Given the description of an element on the screen output the (x, y) to click on. 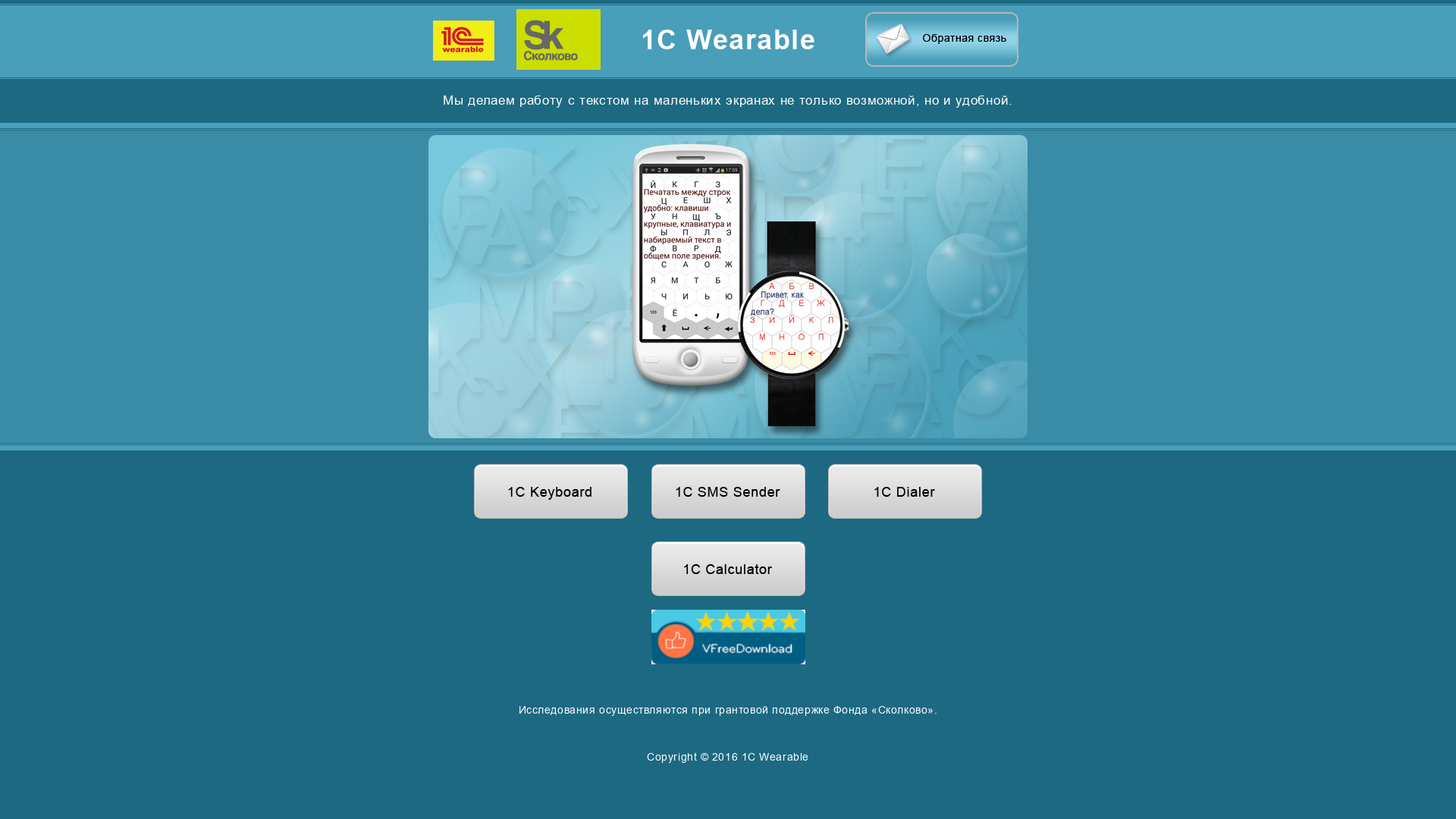
1C Wearable Element type: text (775, 756)
awarded 5 Stars at Taimienphi Element type: hover (727, 636)
download Element type: hover (727, 657)
